Given the description of an element on the screen output the (x, y) to click on. 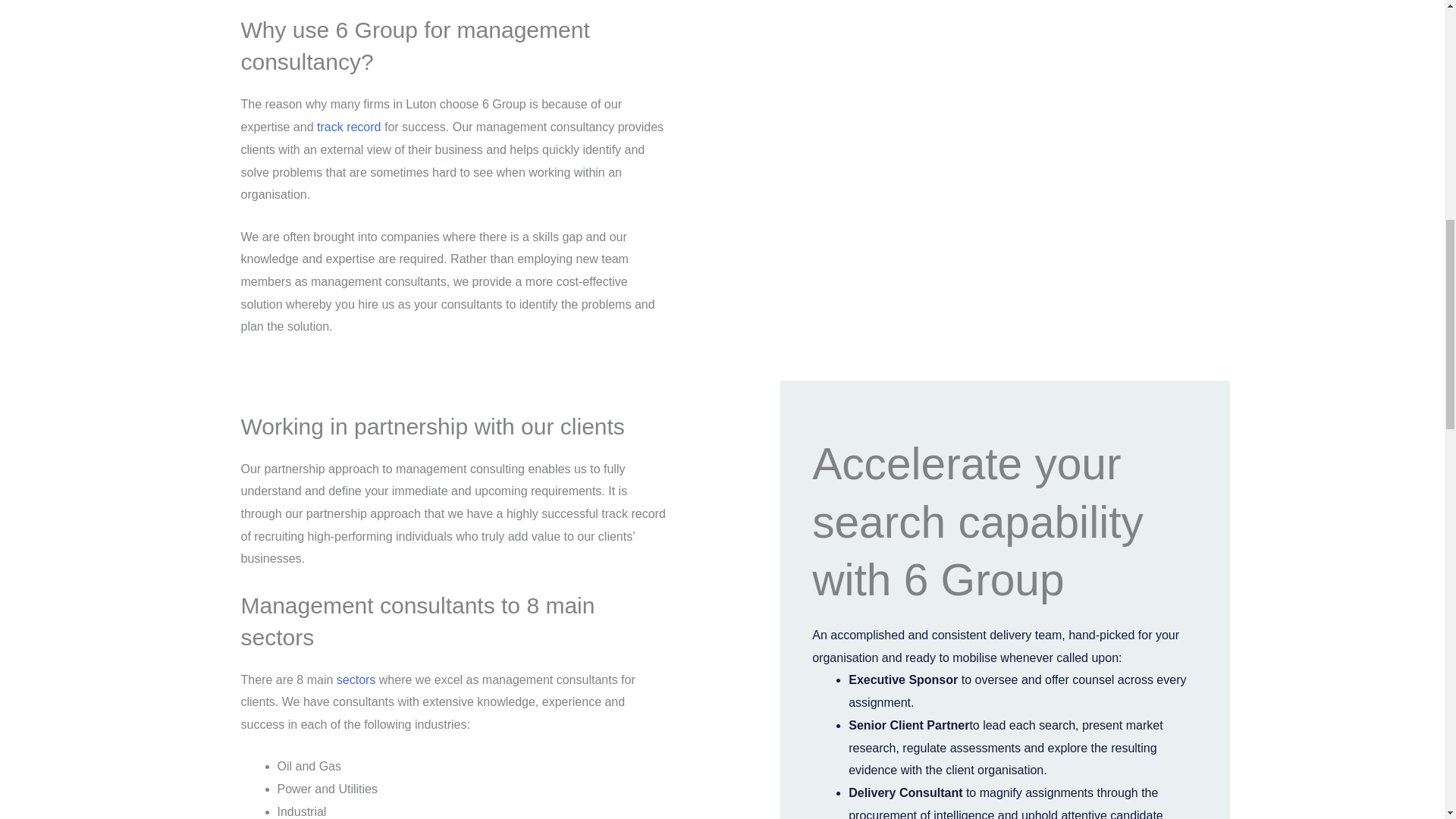
track record (348, 126)
sectors (355, 679)
Management Consultants infographic (1003, 42)
